Given the description of an element on the screen output the (x, y) to click on. 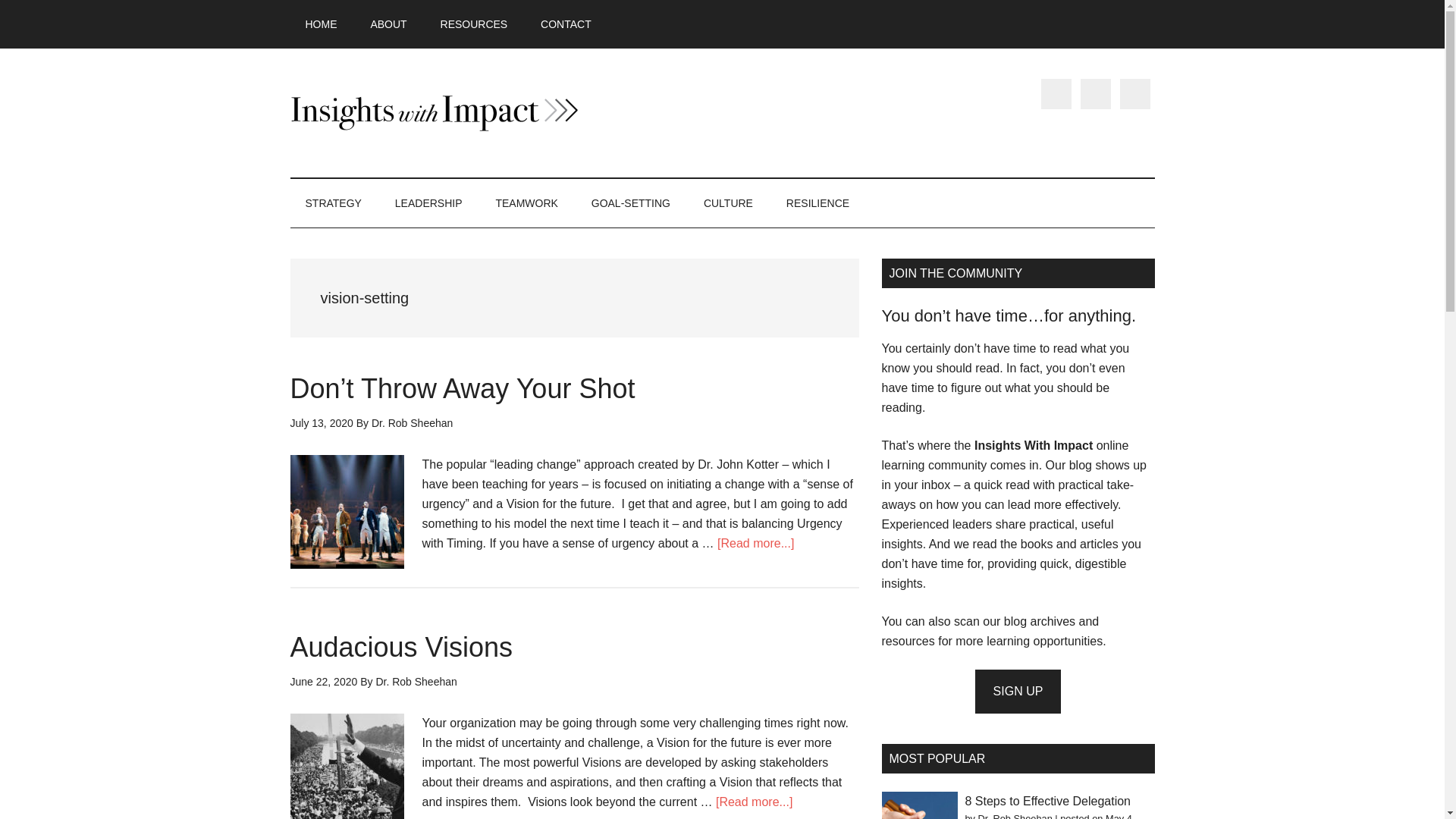
CONTACT (566, 24)
ABOUT (388, 24)
STRATEGY (332, 203)
Dr. Rob Sheehan (416, 681)
TEAMWORK (526, 203)
RESILIENCE (817, 203)
Audacious Visions (400, 646)
CULTURE (728, 203)
LEADERSHIP (428, 203)
Insights With Impact (433, 112)
RESOURCES (473, 24)
GOAL-SETTING (630, 203)
Dr. Rob Sheehan (411, 422)
HOME (320, 24)
